Given the description of an element on the screen output the (x, y) to click on. 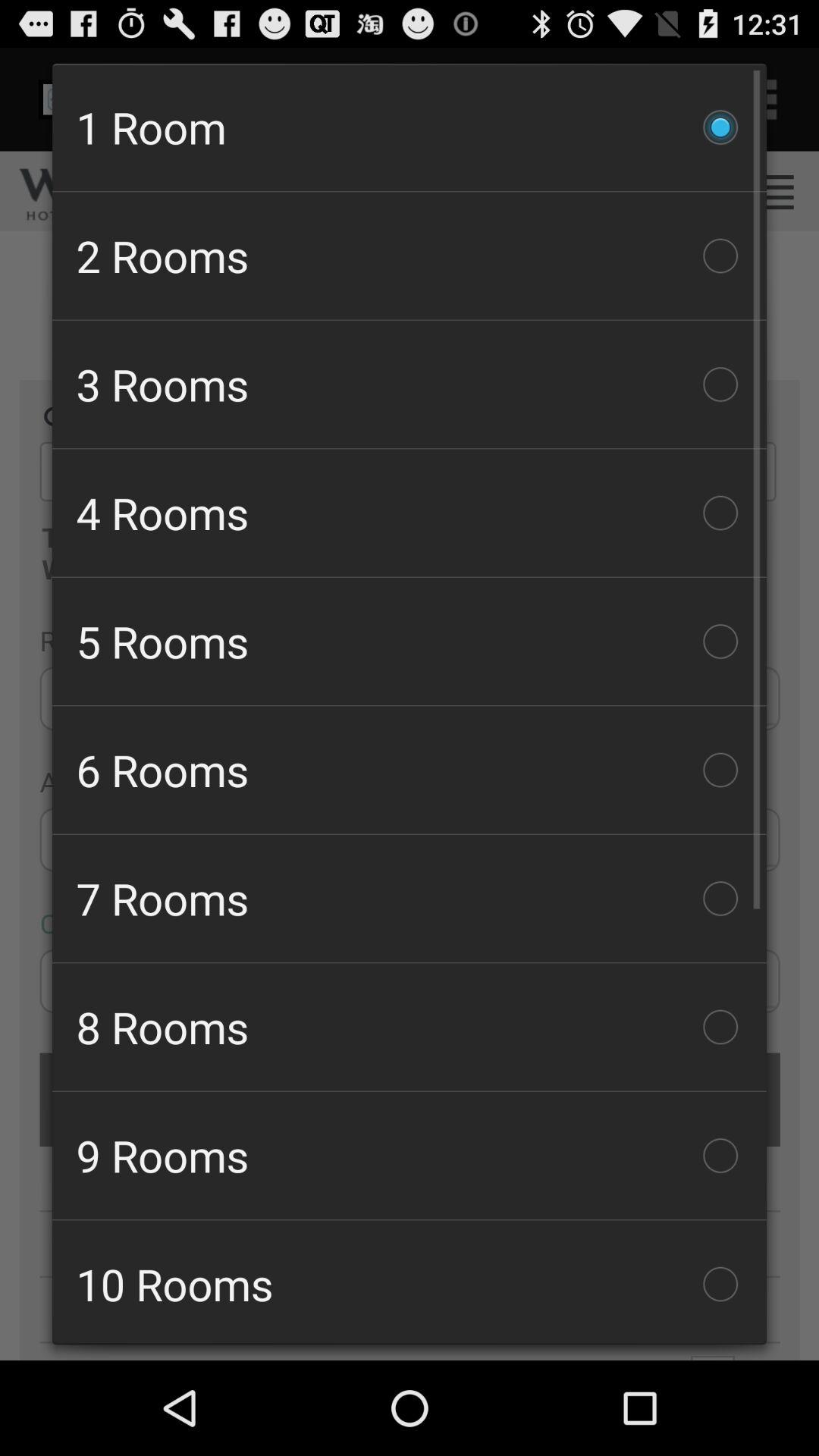
tap the 6 rooms icon (409, 769)
